Given the description of an element on the screen output the (x, y) to click on. 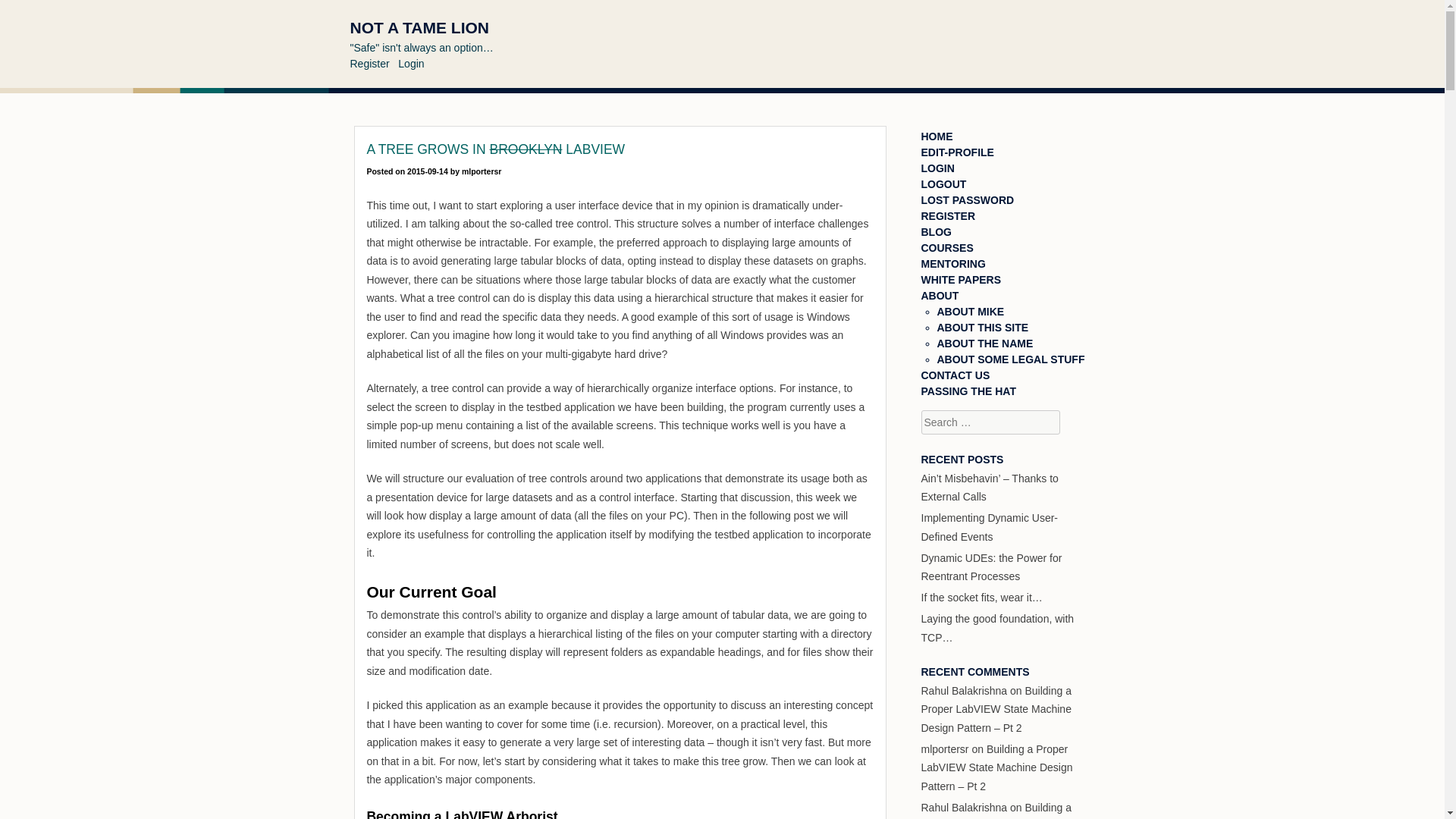
2015-09-14 (427, 171)
EDIT-PROFILE (956, 152)
mlportersr (481, 171)
LOGIN (936, 168)
HOME (936, 136)
NOT A TAME LION (419, 27)
Register (370, 63)
Login (410, 63)
LOGOUT (943, 184)
